Given the description of an element on the screen output the (x, y) to click on. 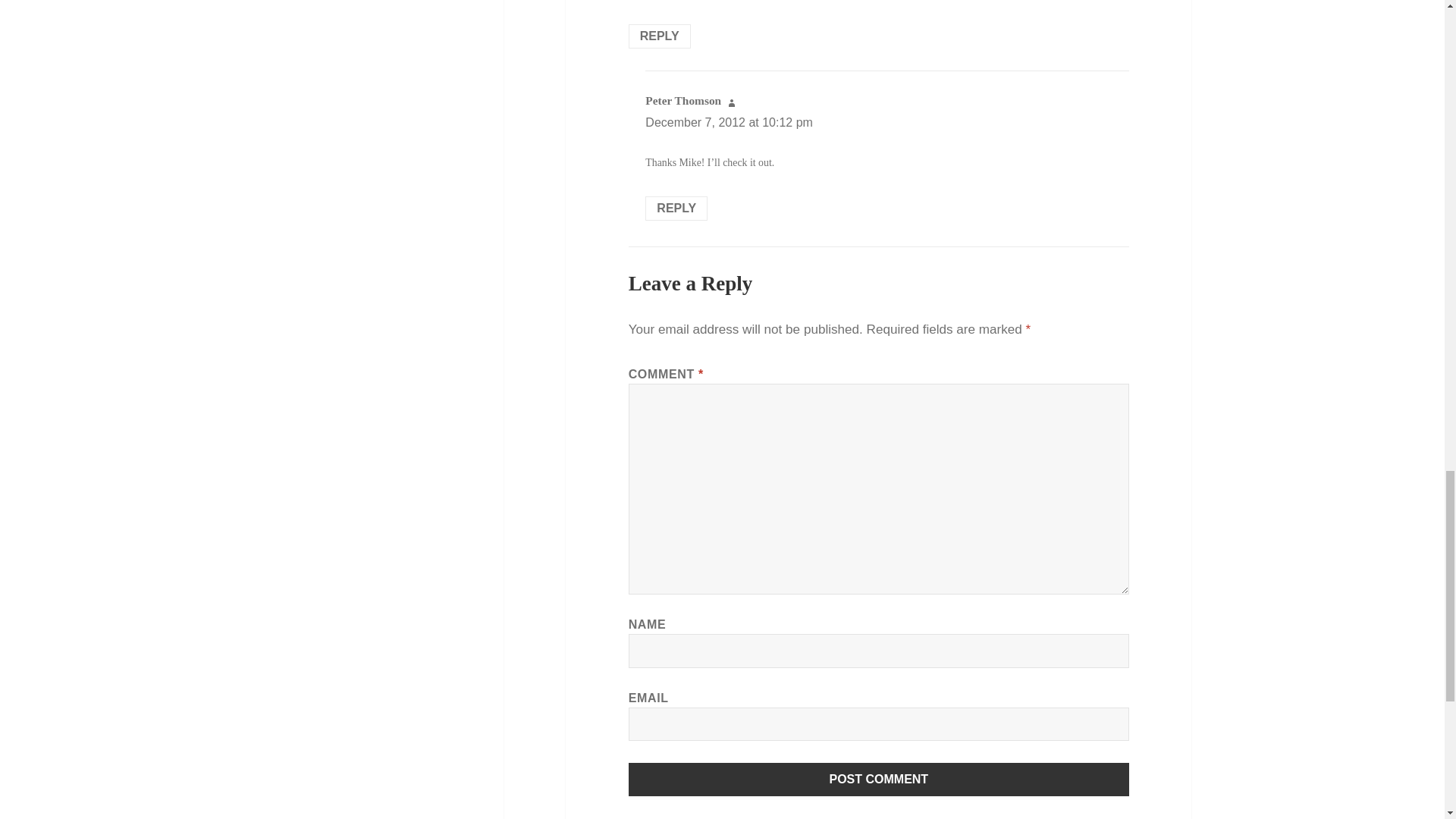
Post Comment (878, 779)
Peter Thomson (682, 100)
REPLY (659, 36)
Post Comment (878, 779)
December 7, 2012 at 10:12 pm (728, 122)
REPLY (676, 208)
